Given the description of an element on the screen output the (x, y) to click on. 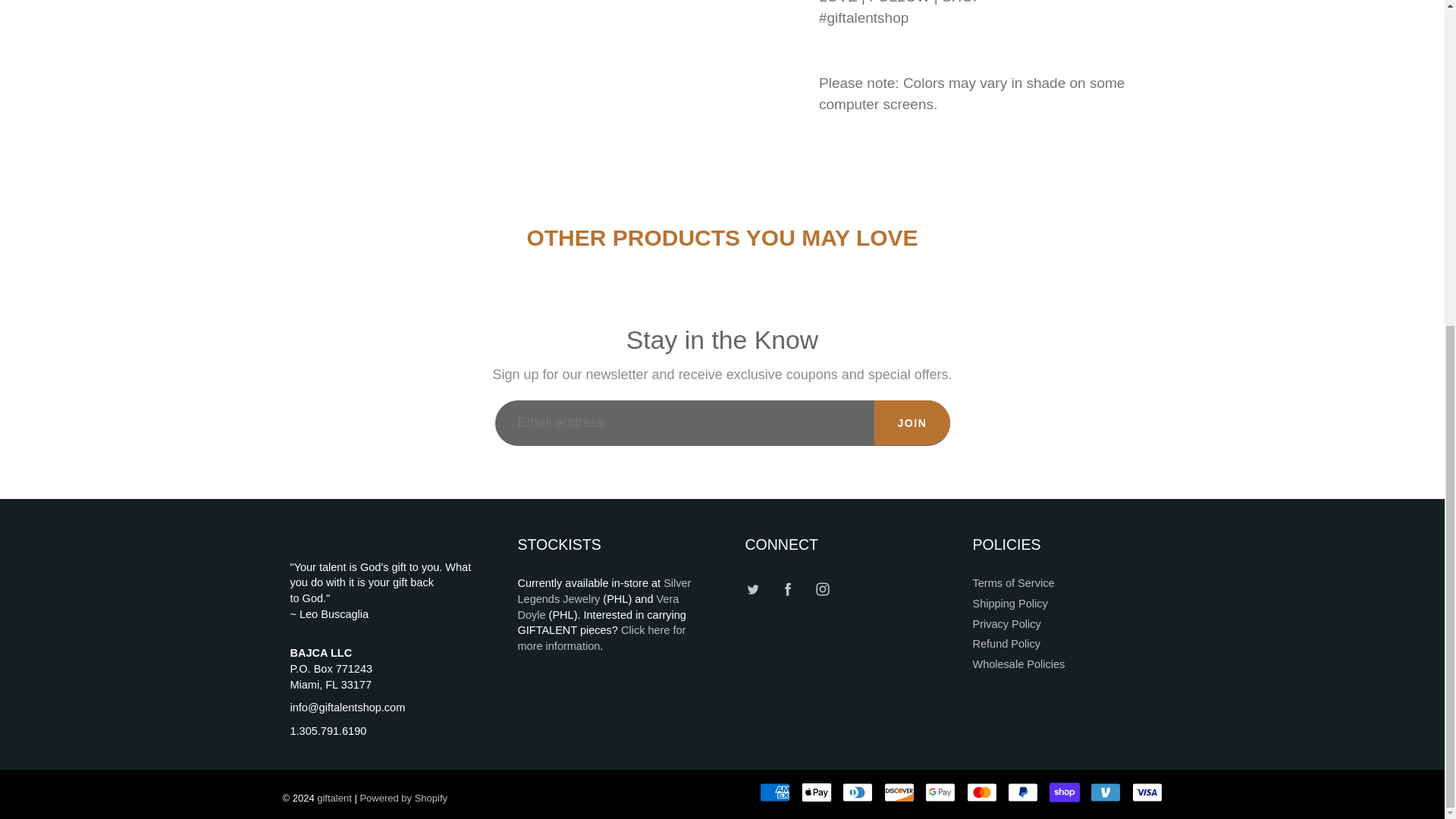
Discover (898, 792)
Visa (1146, 792)
Wholesale (600, 637)
American Express (775, 792)
Diners Club (857, 792)
PayPal (1022, 792)
Instagram (822, 588)
Apple Pay (816, 792)
Shop Pay (1064, 792)
Google Pay (939, 792)
